Given the description of an element on the screen output the (x, y) to click on. 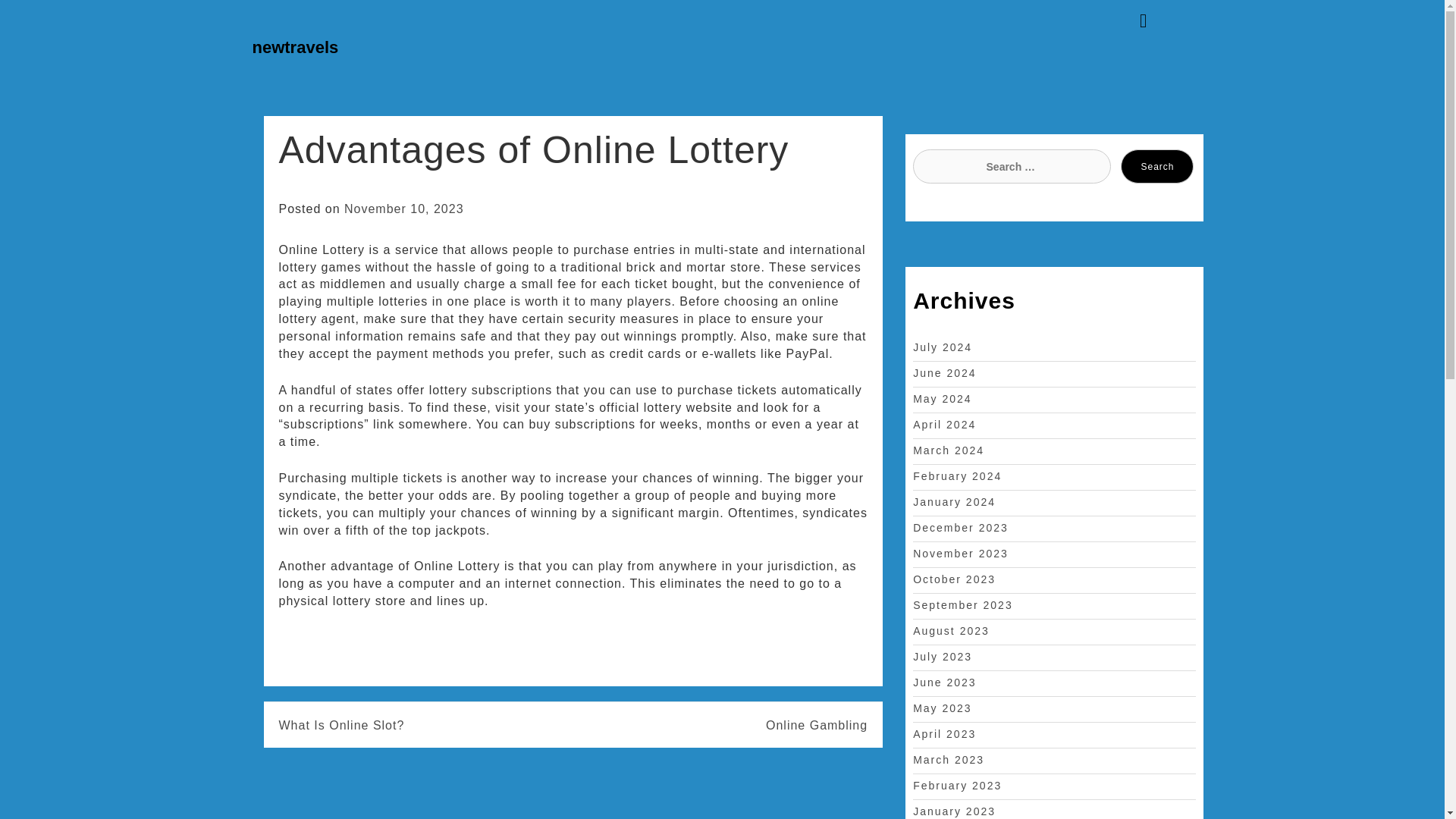
March 2024 (948, 450)
Online Gambling (720, 725)
April 2023 (943, 734)
August 2023 (951, 630)
March 2023 (948, 759)
November 10, 2023 (403, 208)
June 2023 (943, 682)
July 2024 (942, 346)
June 2024 (943, 372)
December 2023 (960, 527)
April 2024 (943, 424)
newtravels (294, 46)
May 2023 (941, 707)
What Is Online Slot? (341, 725)
Search (1157, 166)
